Given the description of an element on the screen output the (x, y) to click on. 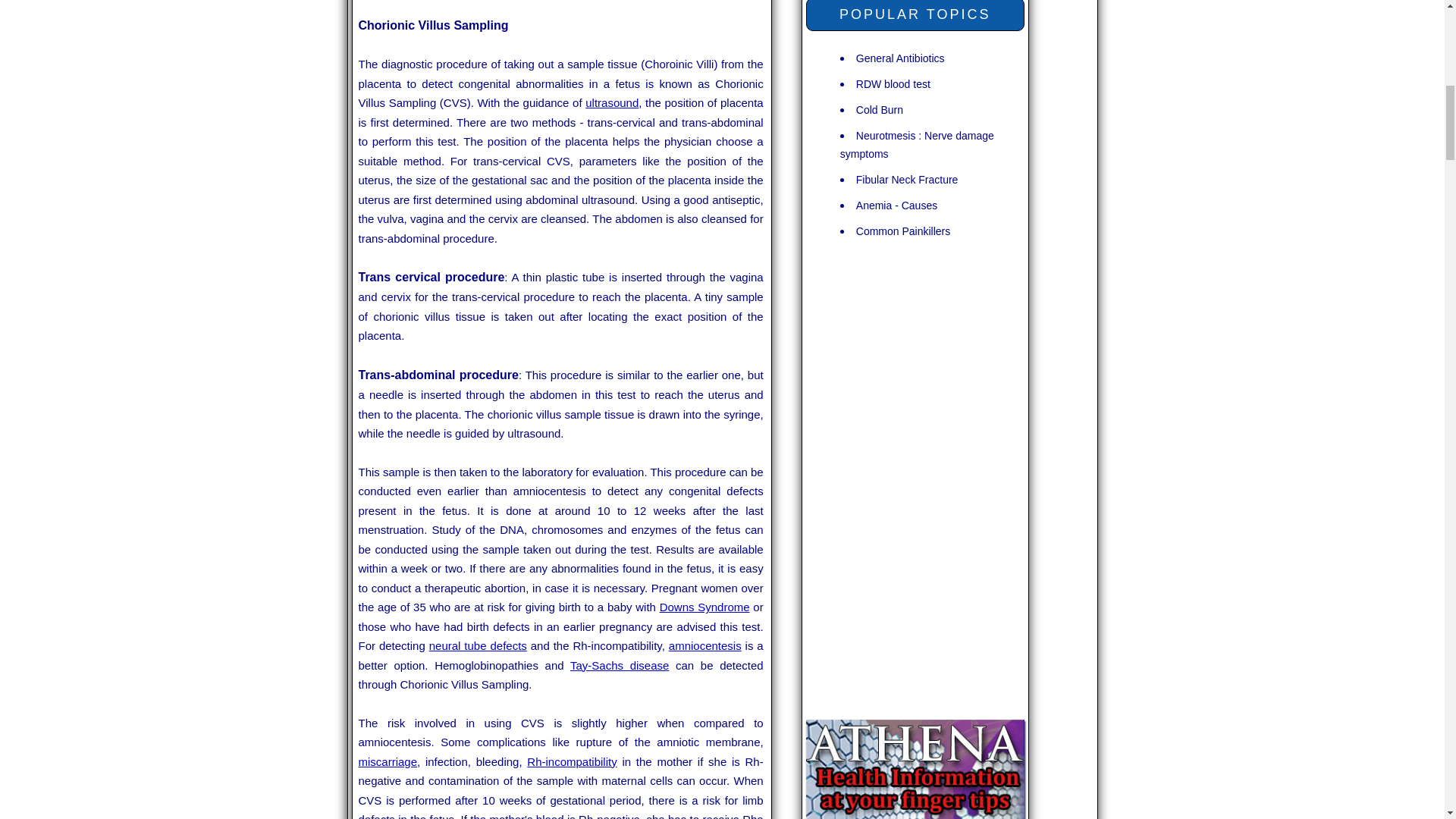
Cold Burn (879, 109)
General Antibiotics (900, 57)
Fibular Neck Fracture (907, 178)
neural tube defects (478, 645)
Neurotmesis : Nerve damage symptoms (917, 143)
miscarriage (387, 761)
Common PainKillers (903, 230)
RDW blood test (893, 83)
ultrasound (612, 102)
Tay-Sachs disease (619, 665)
